Given the description of an element on the screen output the (x, y) to click on. 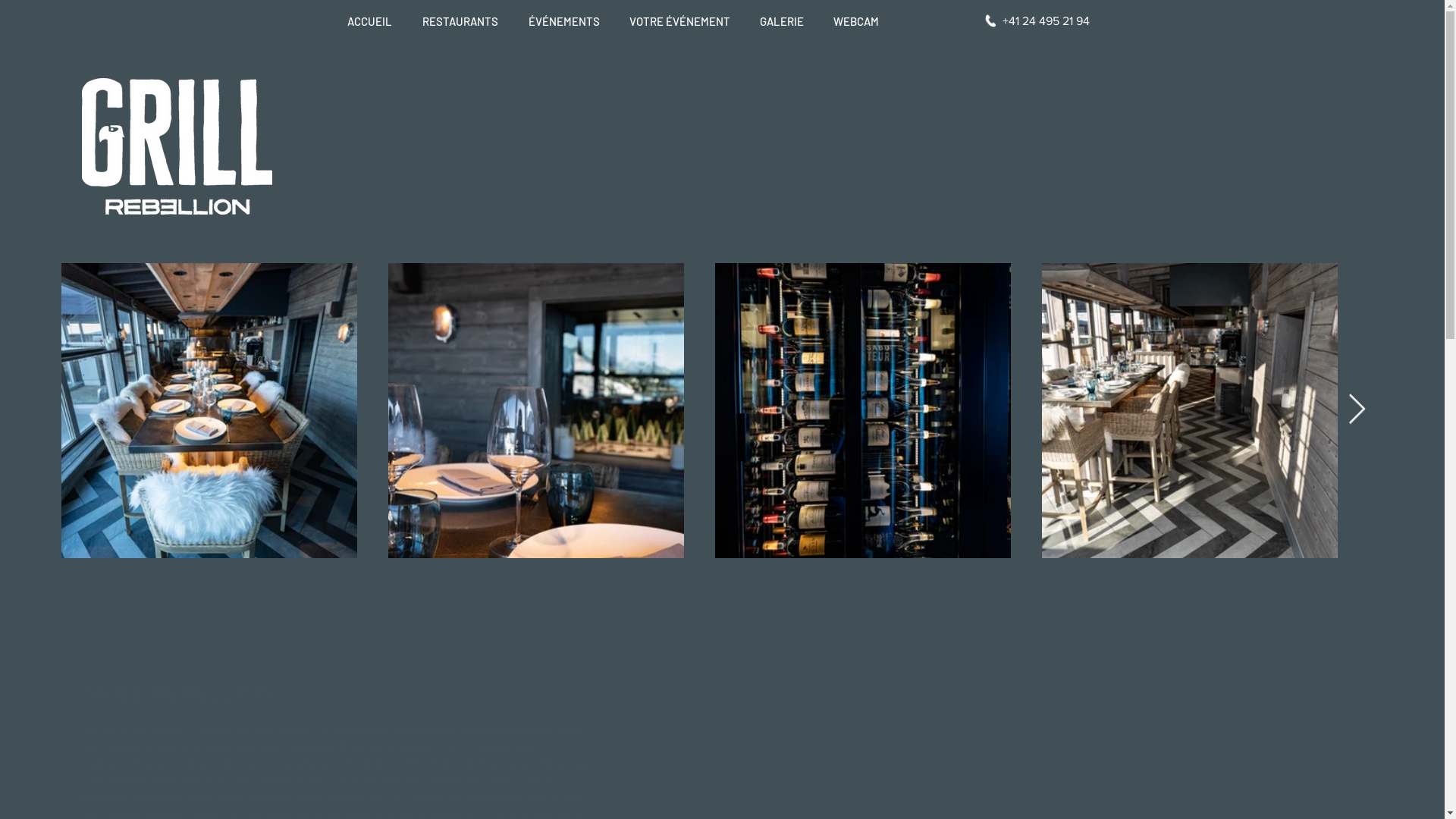
Embedded Content Element type: hover (691, 712)
ACCUEIL Element type: text (372, 21)
WEBCAM Element type: text (859, 21)
